Given the description of an element on the screen output the (x, y) to click on. 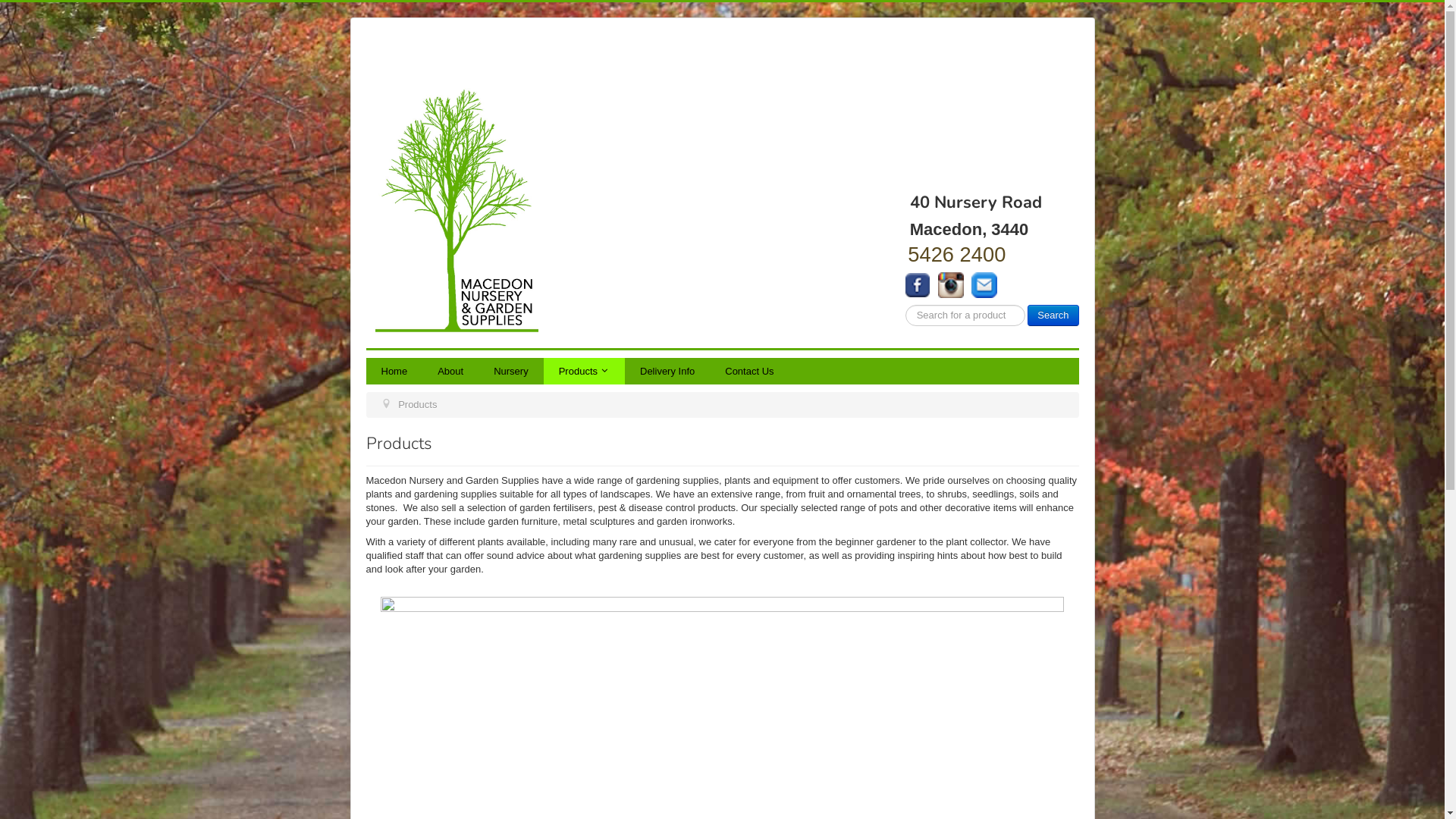
Home Element type: text (393, 370)
About Element type: text (450, 370)
5426 2400 Element type: text (956, 254)
Search Element type: text (1052, 315)
Products Element type: text (583, 370)
Contact Us Element type: text (748, 370)
Nursery Element type: text (510, 370)
Delivery Info Element type: text (666, 370)
